Given the description of an element on the screen output the (x, y) to click on. 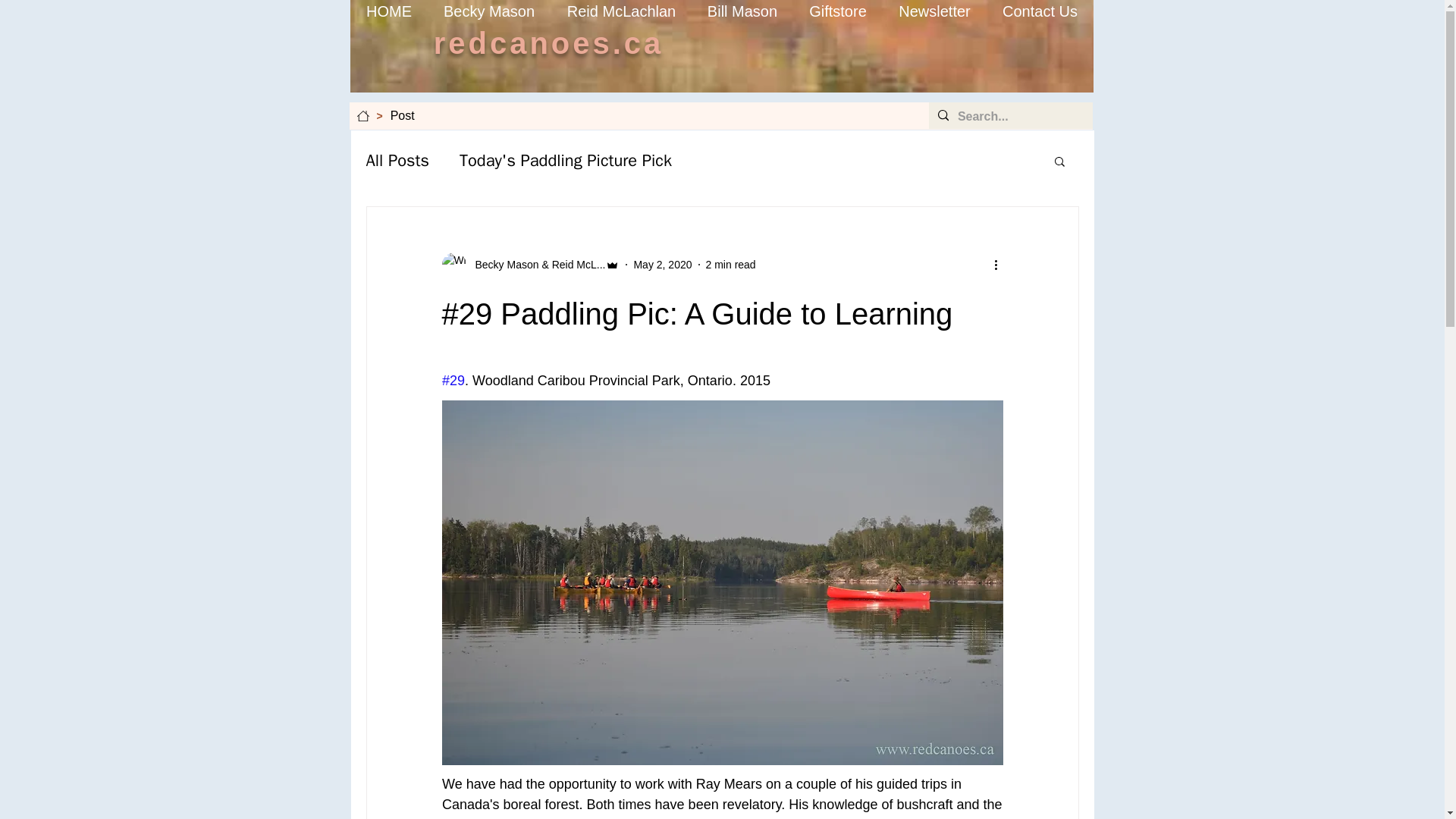
Reid McLachlan (620, 11)
Bill Mason (741, 11)
Becky Mason (489, 11)
HOME (388, 11)
May 2, 2020 (662, 263)
Post (402, 115)
Contact Us (1039, 11)
All Posts (397, 160)
redcanoes.ca (548, 42)
Giftstore (838, 11)
2 min read (730, 263)
Today's Paddling Picture Pick (565, 160)
redcanoesHeadermenu (721, 46)
Newsletter (933, 11)
